Given the description of an element on the screen output the (x, y) to click on. 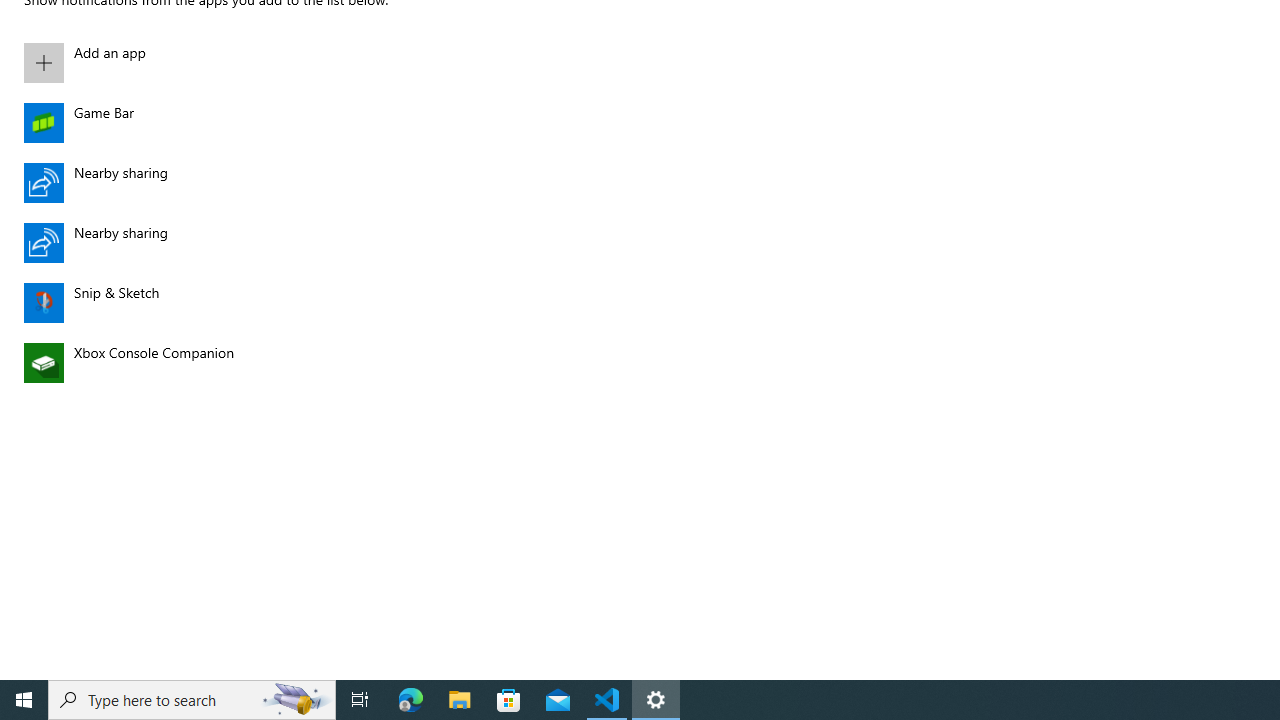
Nearby sharing (243, 242)
Start (24, 699)
Search highlights icon opens search home window (295, 699)
Microsoft Store (509, 699)
Task View (359, 699)
Xbox Console Companion (243, 362)
Settings - 1 running window (656, 699)
Game Bar (243, 122)
Visual Studio Code - 1 running window (607, 699)
Type here to search (191, 699)
File Explorer (460, 699)
Snip & Sketch (243, 302)
Microsoft Edge (411, 699)
Add an app (243, 62)
